Given the description of an element on the screen output the (x, y) to click on. 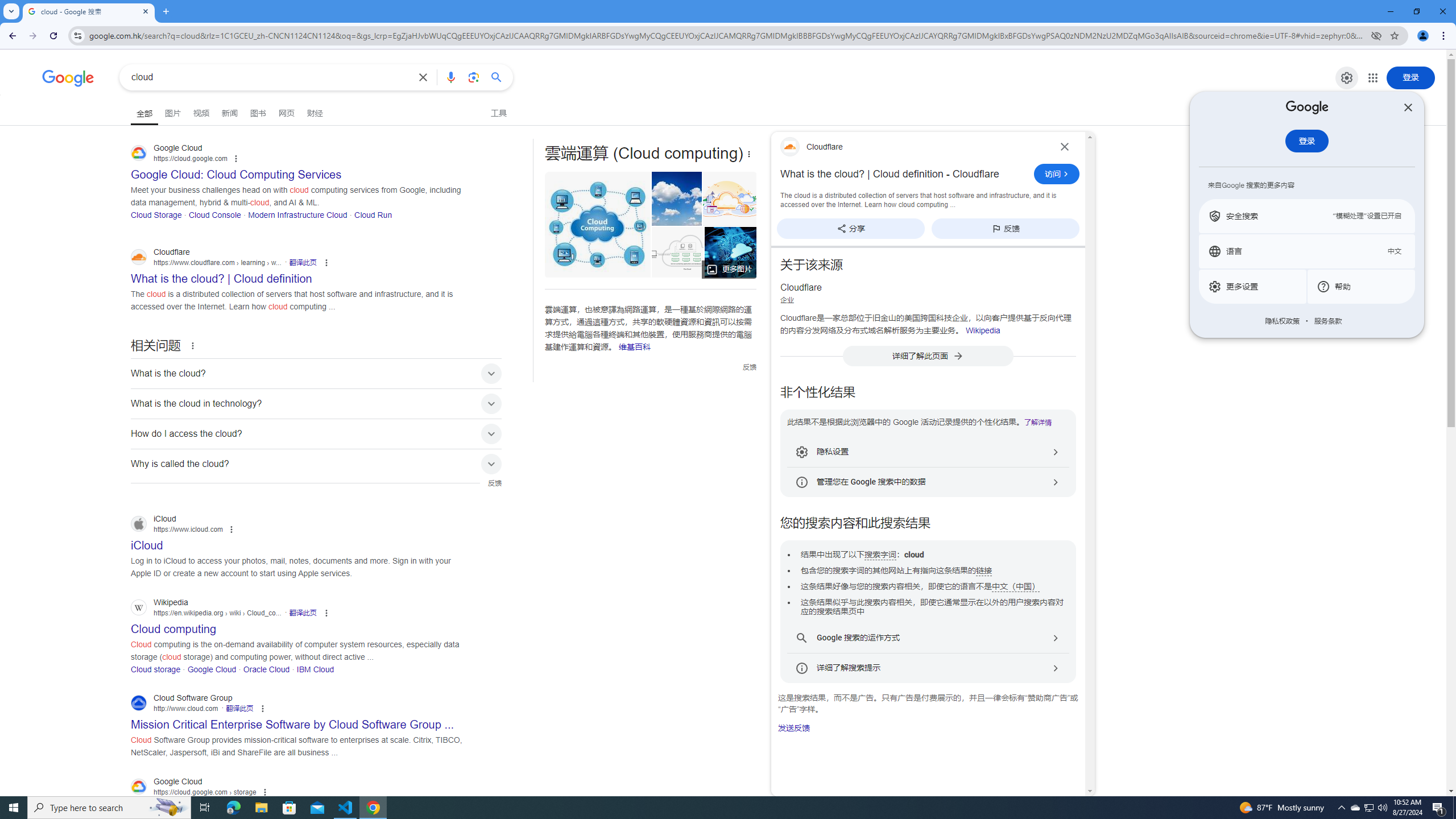
 iCloud iCloud https://www.icloud.com (147, 541)
Cloud Console (214, 214)
Oracle Cloud (266, 669)
What is the cloud? (316, 373)
